Given the description of an element on the screen output the (x, y) to click on. 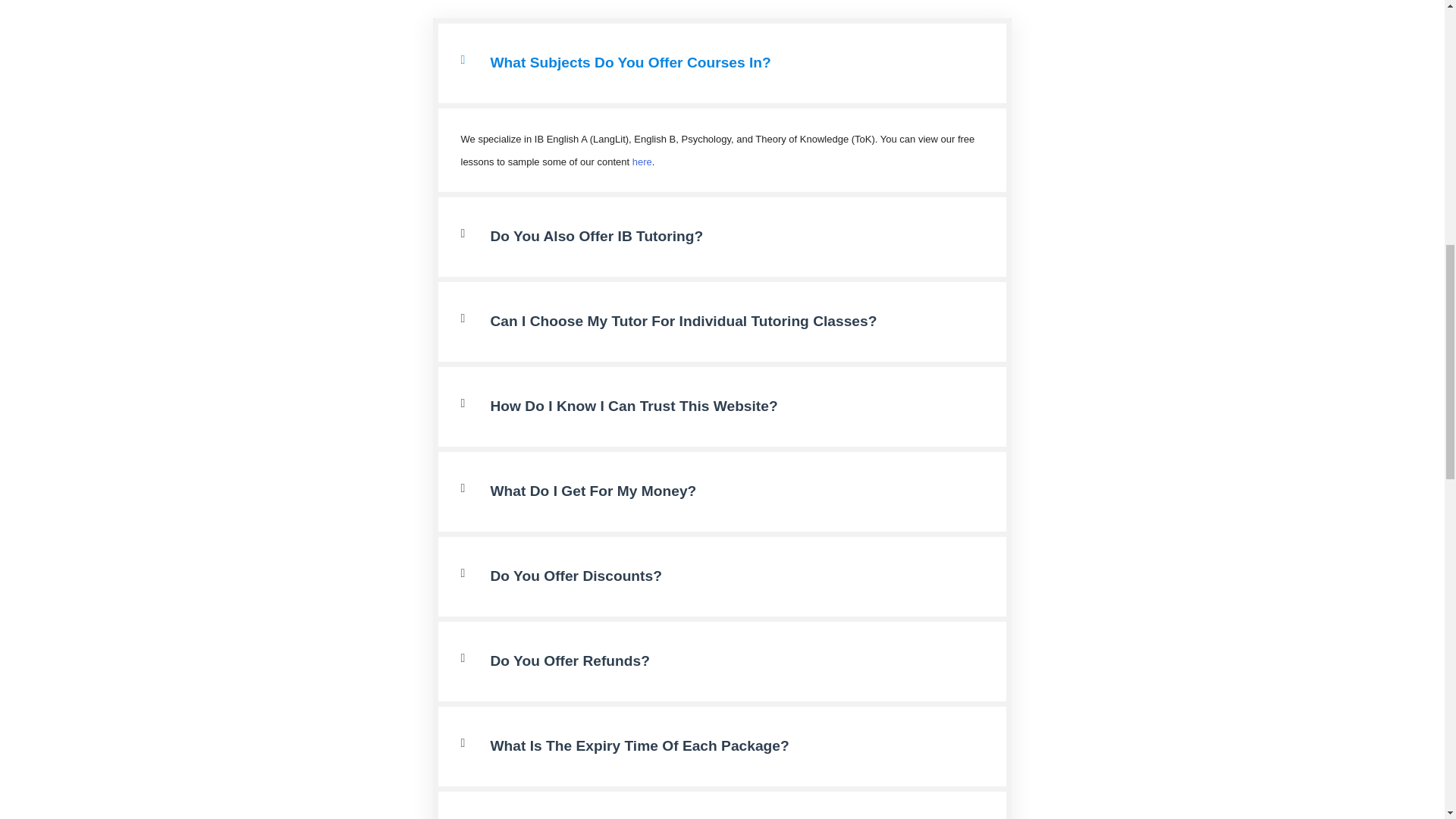
What Do I Get For My Money? (592, 490)
Do You Offer Refunds? (569, 660)
Do You Also Offer IB Tutoring? (596, 236)
here (641, 161)
How Do I Know I Can Trust This Website? (633, 406)
What Subjects Do You Offer Courses In? (629, 62)
Can I Choose My Tutor For Individual Tutoring Classes? (682, 320)
What Is The Expiry Time Of Each Package? (639, 745)
Do You Offer Discounts? (575, 575)
